Given the description of an element on the screen output the (x, y) to click on. 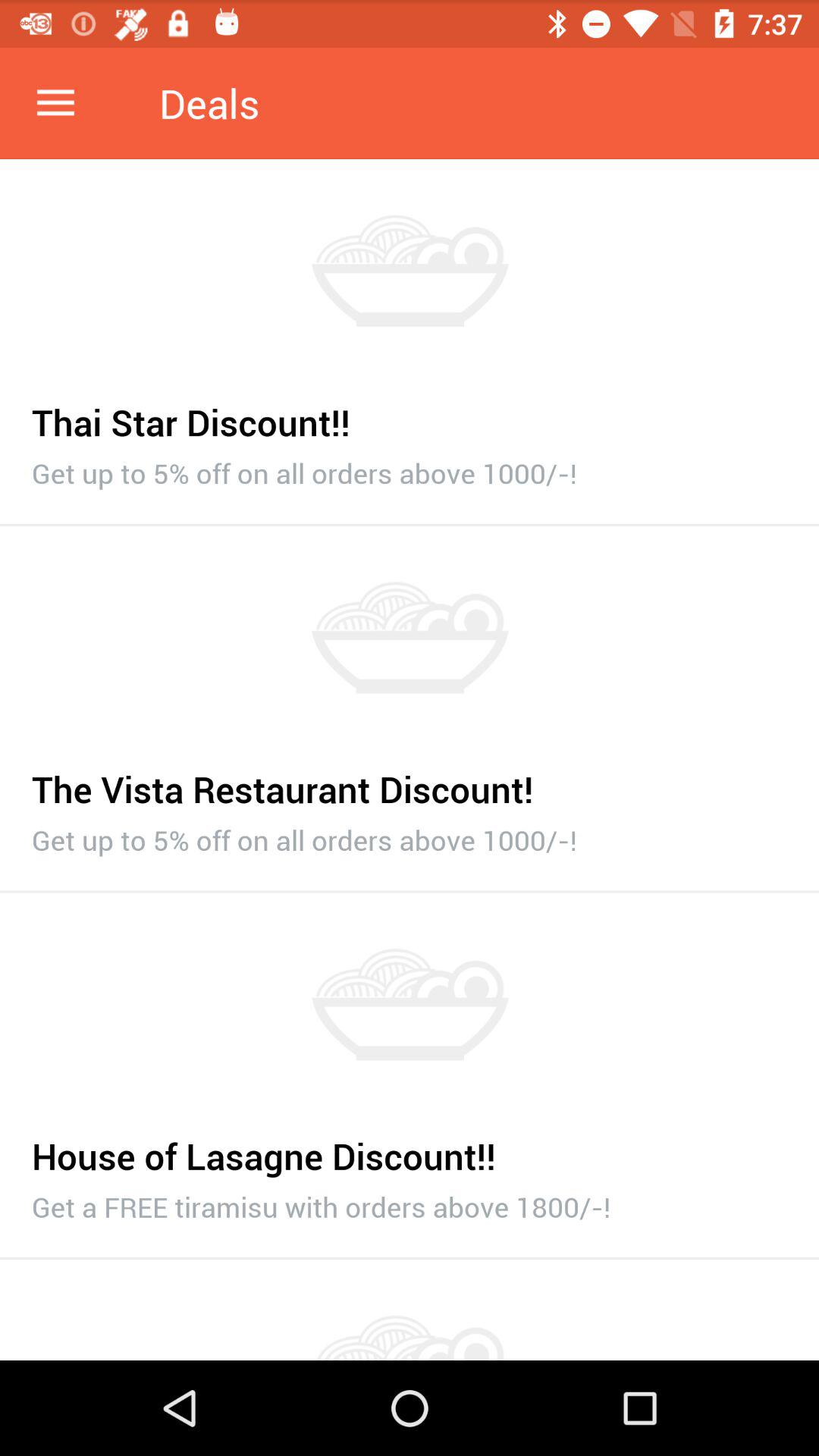
open thai star discount!! (409, 414)
